Given the description of an element on the screen output the (x, y) to click on. 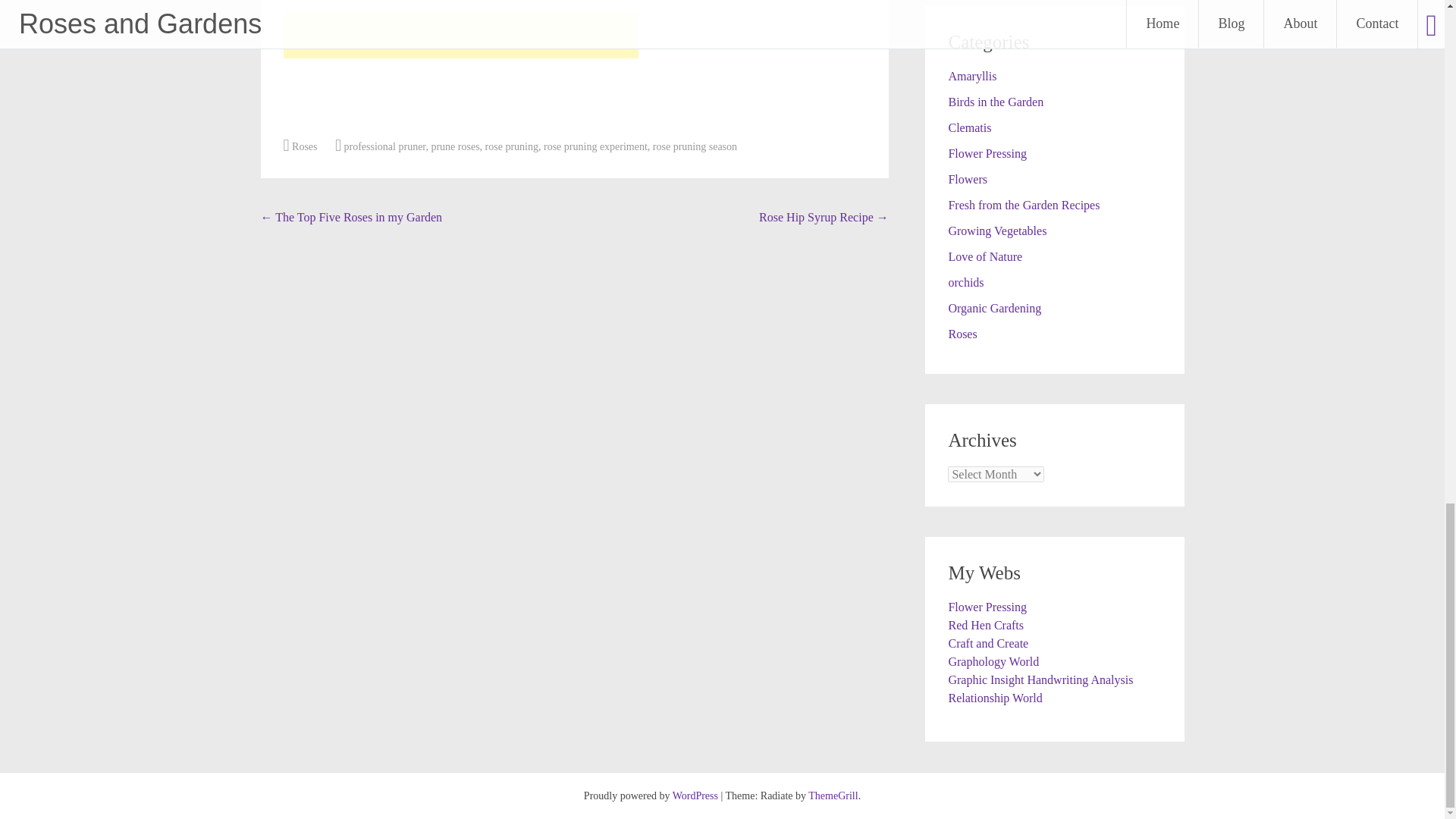
prune roses (454, 146)
professional pruner (384, 146)
Clematis (969, 127)
Flower Pressing (986, 153)
rose pruning season (694, 146)
Growing Vegetables (996, 230)
Amaryllis (971, 75)
Flowers (967, 178)
Birds in the Garden (995, 101)
rose pruning (511, 146)
Roses (304, 146)
Fresh from the Garden Recipes (1023, 205)
rose pruning experiment (595, 146)
Love of Nature (984, 256)
